Given the description of an element on the screen output the (x, y) to click on. 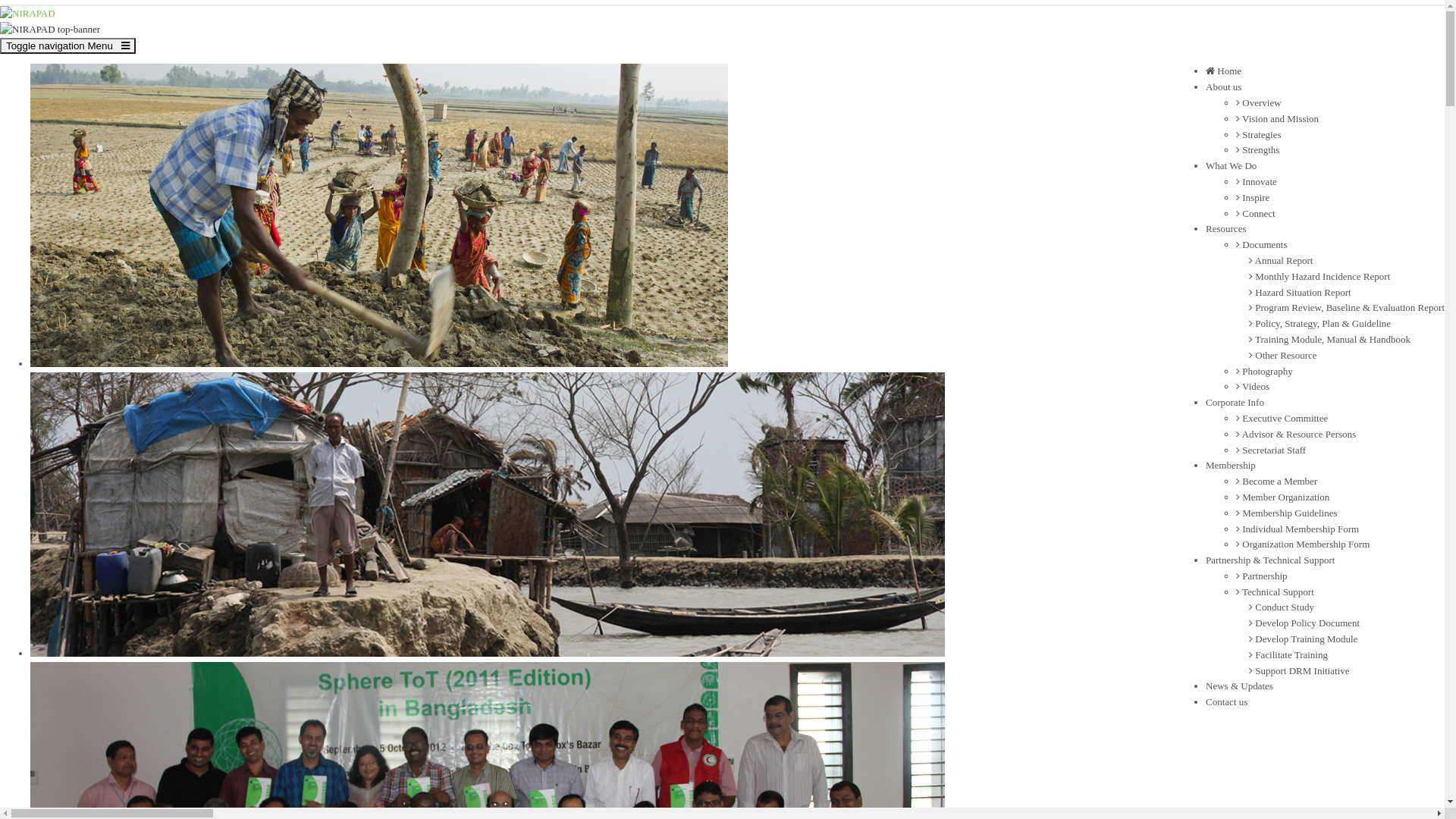
Connect Element type: text (1255, 213)
Support DRM Initiative Element type: text (1298, 670)
Develop Policy Document Element type: text (1303, 622)
Resources Element type: text (1225, 228)
Monthly Hazard Incidence Report Element type: text (1319, 276)
Photography Element type: text (1264, 370)
Documents Element type: text (1261, 244)
Innovate Element type: text (1256, 181)
Program Review, Baseline & Evaluation Report Element type: text (1346, 307)
Individual Membership Form Element type: text (1297, 528)
Organization Membership Form Element type: text (1302, 543)
Strategies Element type: text (1258, 134)
Become a Member Element type: text (1276, 480)
Advisor & Resource Persons Element type: text (1295, 433)
Hazard Situation Report Element type: text (1299, 292)
Secretariat Staff Element type: text (1270, 449)
Overview Element type: text (1258, 102)
Vision and Mission Element type: text (1277, 118)
Membership Element type: text (1230, 464)
Partnership & Technical Support Element type: text (1269, 559)
Inspire Element type: text (1252, 197)
Technical Support Element type: text (1275, 591)
Develop Training Module Element type: text (1302, 638)
Facilitate Training Element type: text (1287, 654)
Training Module, Manual & Handbook Element type: text (1329, 339)
Policy, Strategy, Plan & Guideline Element type: text (1319, 323)
Strengths Element type: text (1257, 149)
Home Element type: text (1223, 70)
Corporate Info Element type: text (1234, 401)
What We Do Element type: text (1230, 165)
About us Element type: text (1223, 86)
Conduct Study Element type: text (1281, 606)
Annual Report Element type: text (1280, 260)
News & Updates Element type: text (1239, 685)
Membership Guidelines Element type: text (1286, 512)
Contact us Element type: text (1226, 701)
Partnership Element type: text (1261, 575)
Executive Committee Element type: text (1281, 417)
Videos Element type: text (1252, 386)
Toggle navigation Menu   Element type: text (67, 45)
Member Organization Element type: text (1282, 496)
Other Resource Element type: text (1282, 354)
